Given the description of an element on the screen output the (x, y) to click on. 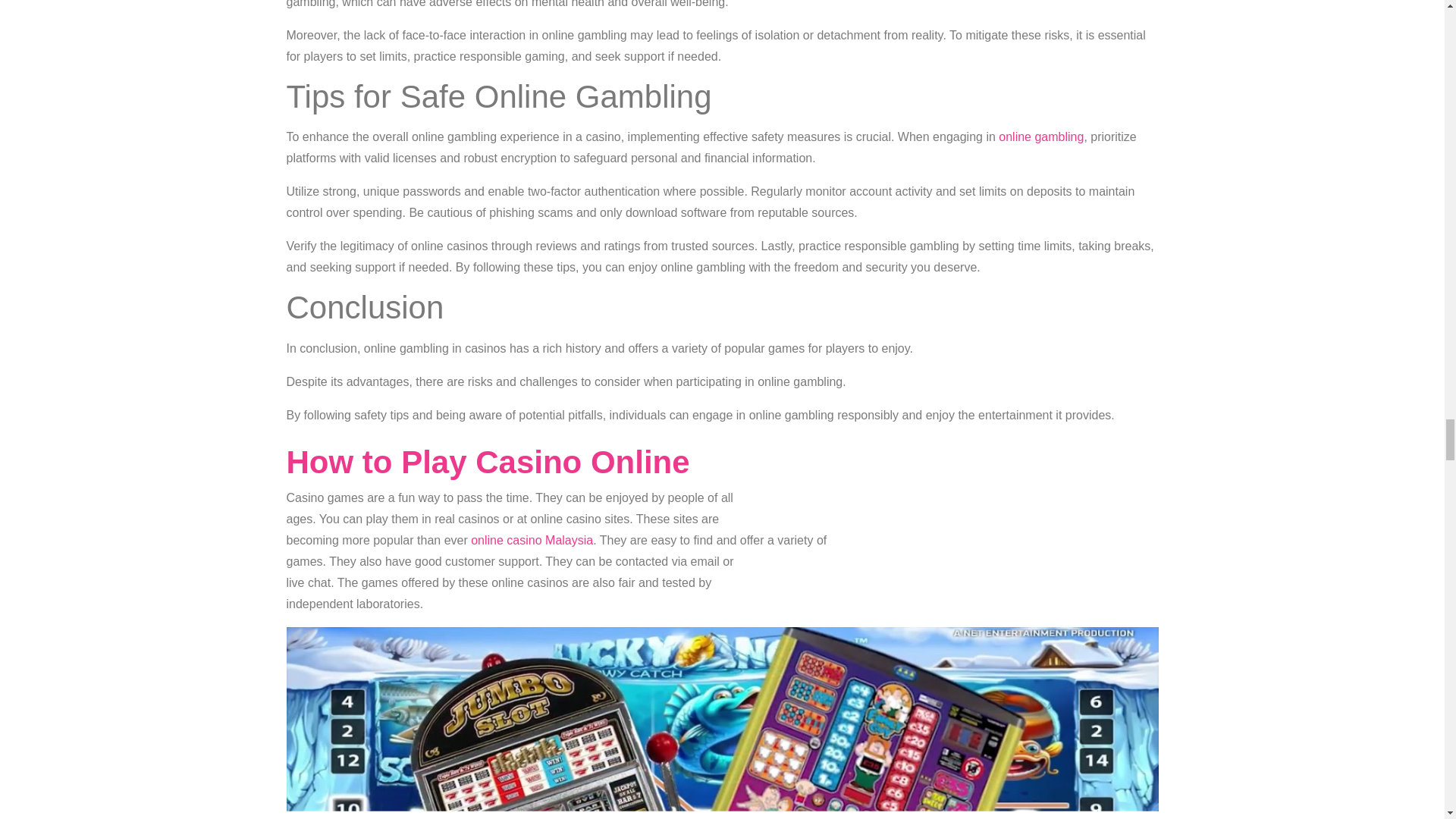
How to Play Casino Online (488, 461)
online casino Malaysia (531, 540)
online gambling (1040, 136)
